Given the description of an element on the screen output the (x, y) to click on. 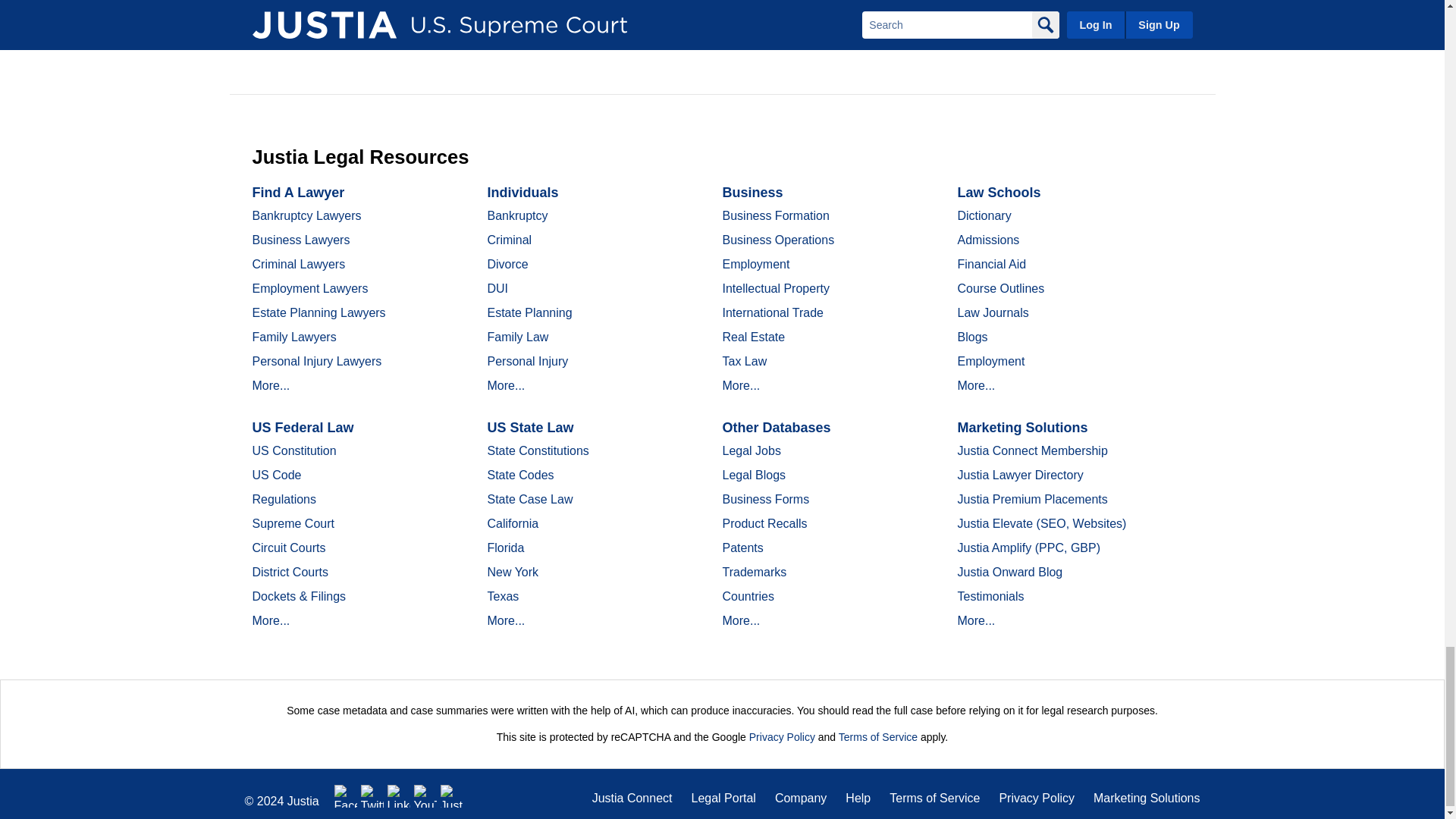
Facebook (345, 795)
LinkedIn (398, 795)
Twitter (372, 795)
YouTube (424, 795)
Justia Lawyer Directory (452, 795)
